Given the description of an element on the screen output the (x, y) to click on. 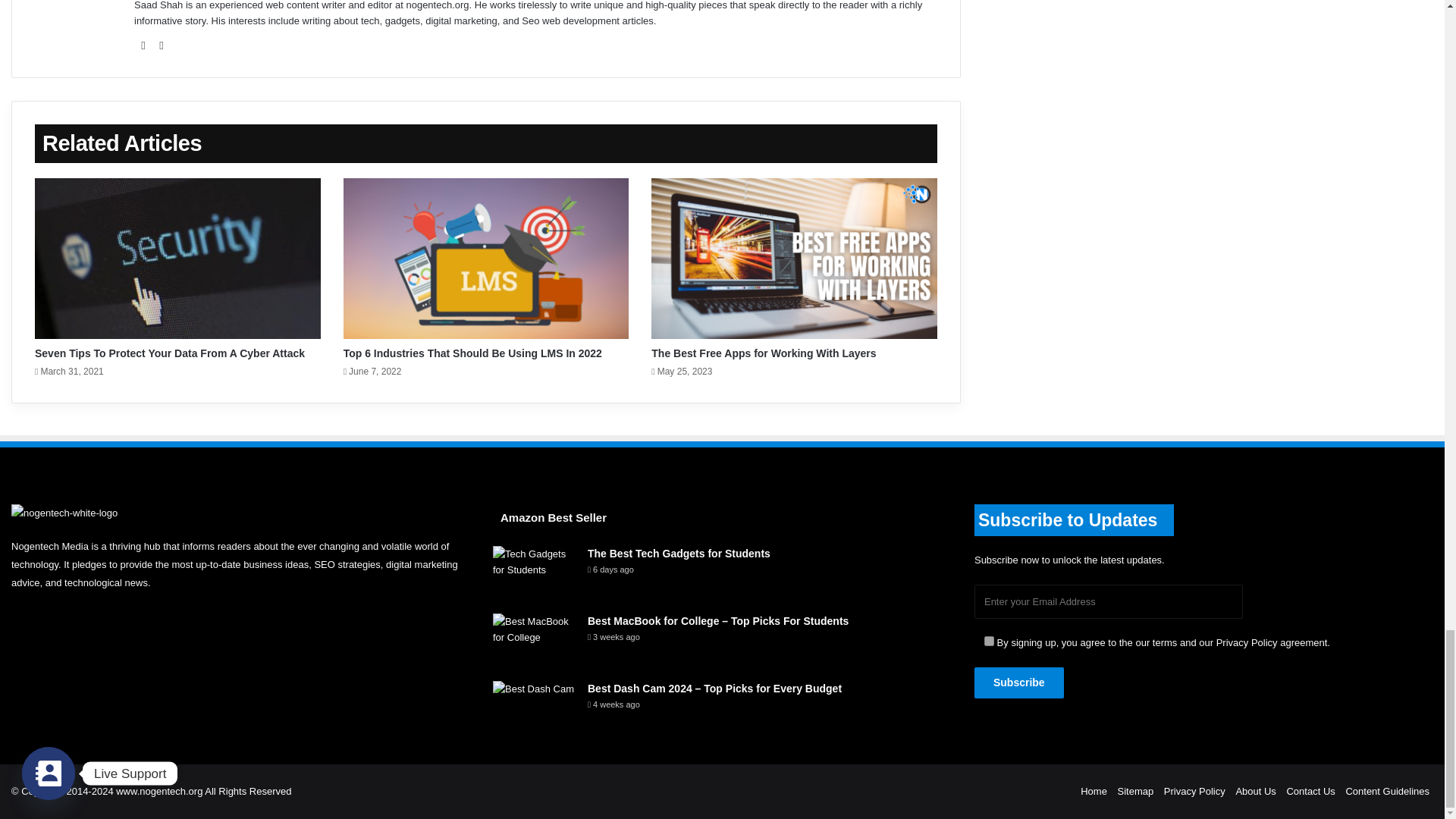
Subscribe (1019, 682)
